Given the description of an element on the screen output the (x, y) to click on. 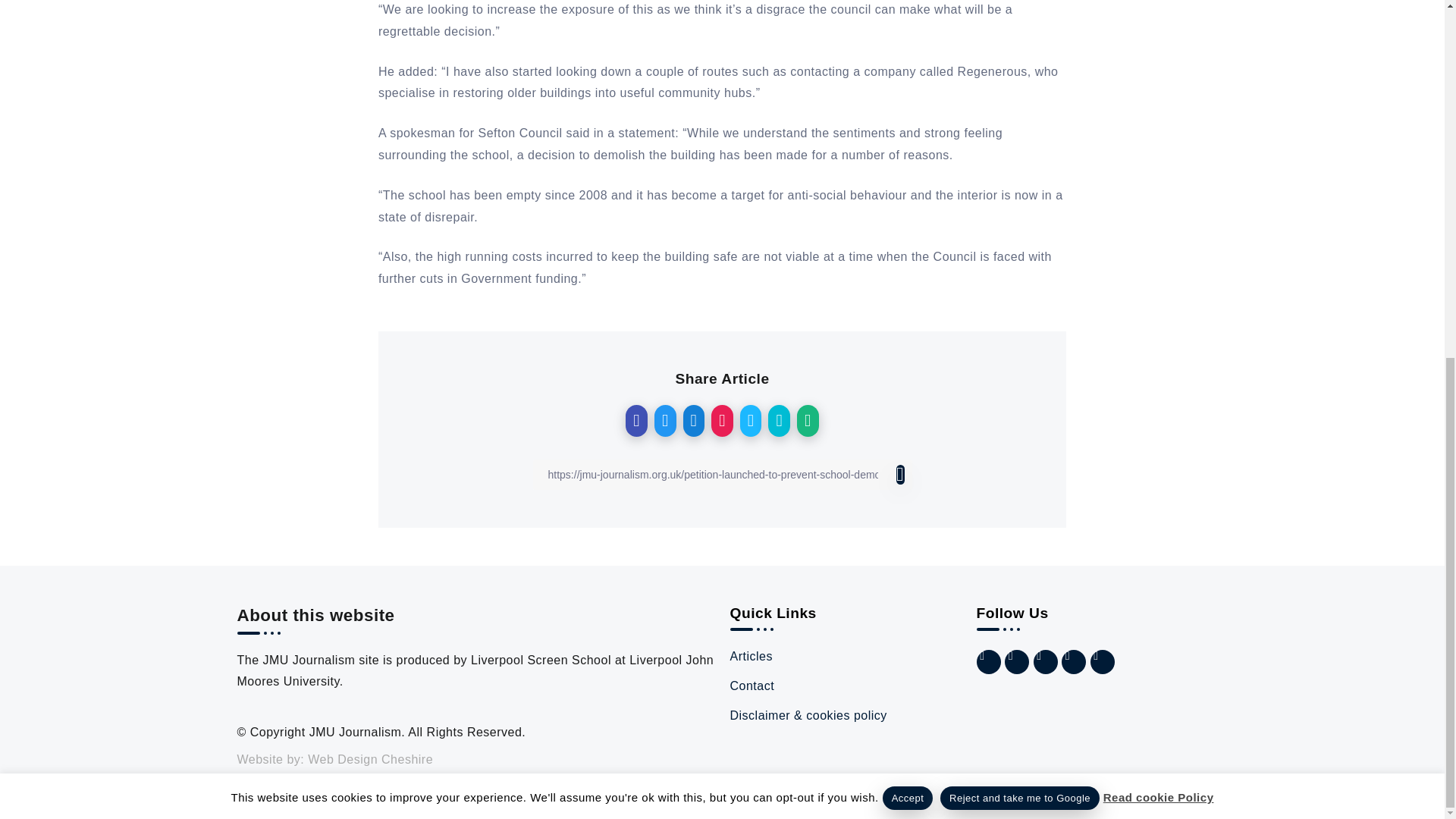
Reject and take me to Google (1019, 166)
Contact (844, 686)
Web Design Cheshire (369, 758)
Accept (907, 166)
Read cookie Policy (1158, 164)
Articles (844, 657)
